Given the description of an element on the screen output the (x, y) to click on. 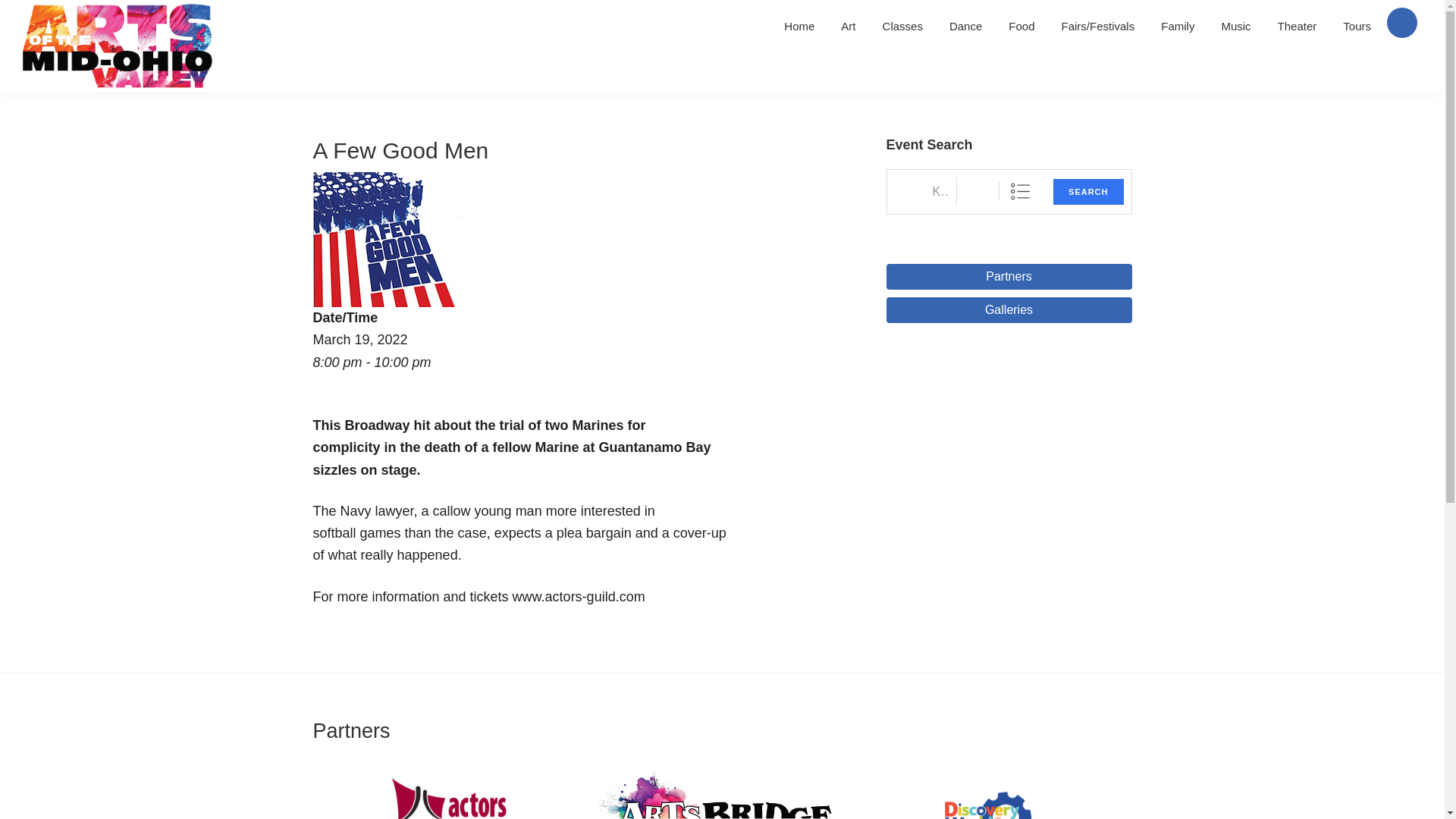
Dance (964, 25)
Music (1235, 25)
Food (1021, 25)
Tours (1356, 25)
Family (1177, 25)
Theater (1296, 25)
Classes (902, 25)
Home (799, 25)
Art (847, 25)
